Given the description of an element on the screen output the (x, y) to click on. 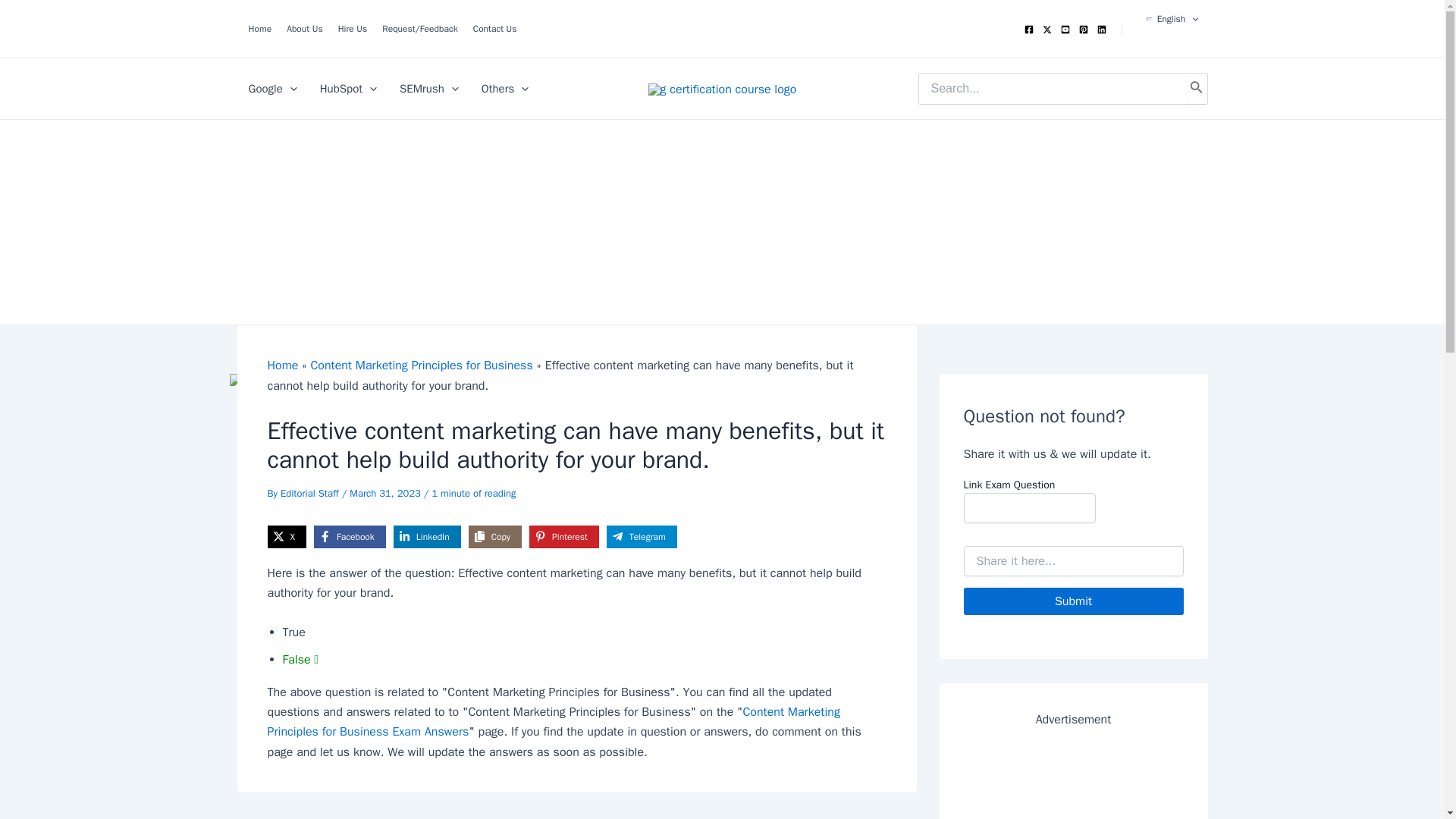
Hire Us (348, 28)
View all posts by Editorial Staff (311, 492)
Google (271, 88)
English (1172, 18)
About Us (300, 28)
Home (255, 28)
Contact Us (491, 28)
